Given the description of an element on the screen output the (x, y) to click on. 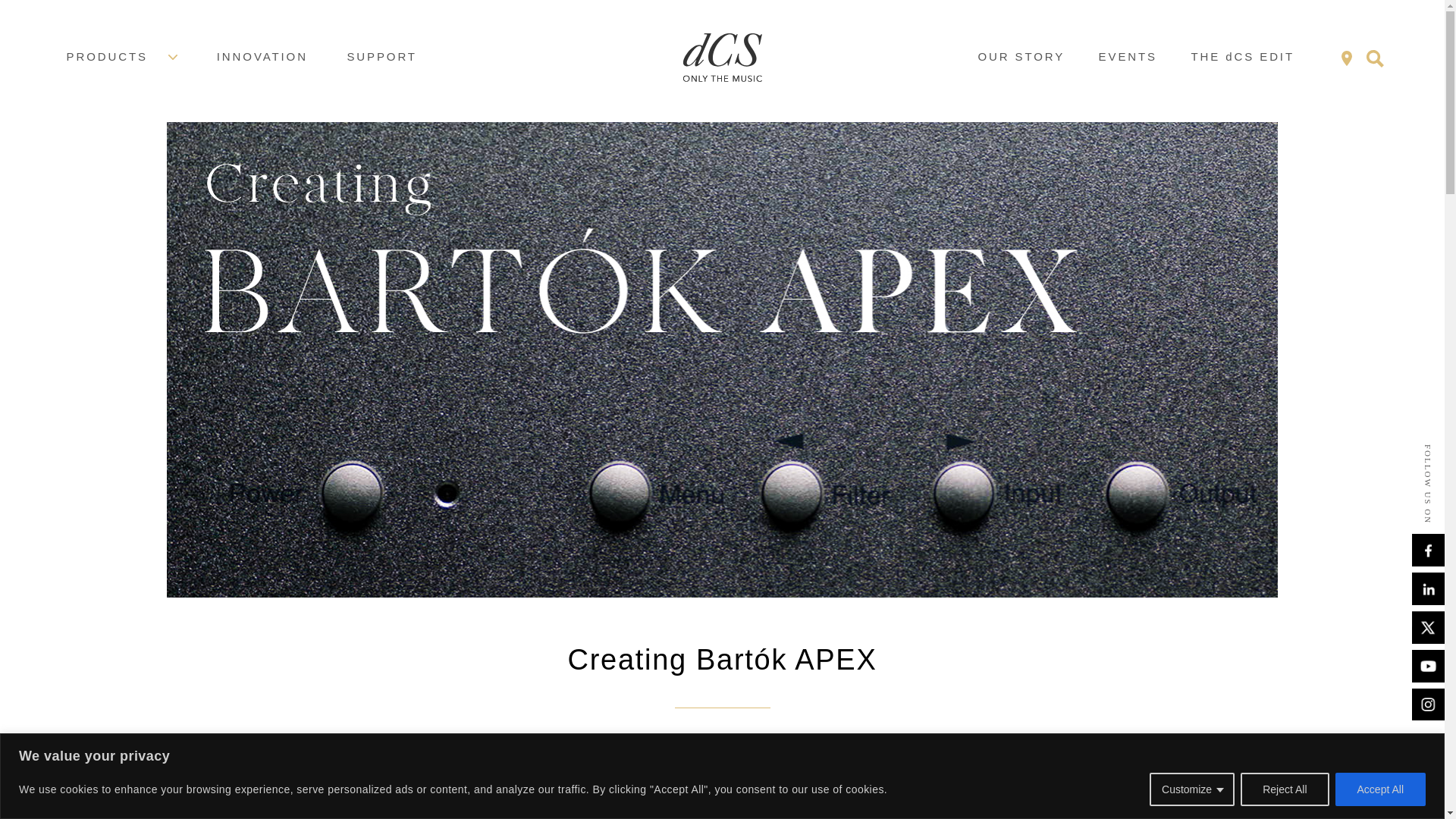
OUR STORY (1020, 56)
PRODUCTS (121, 56)
SUPPORT (381, 56)
Reject All (1283, 788)
Customize (1192, 788)
Accept All (1380, 788)
INNOVATION (261, 56)
